Given the description of an element on the screen output the (x, y) to click on. 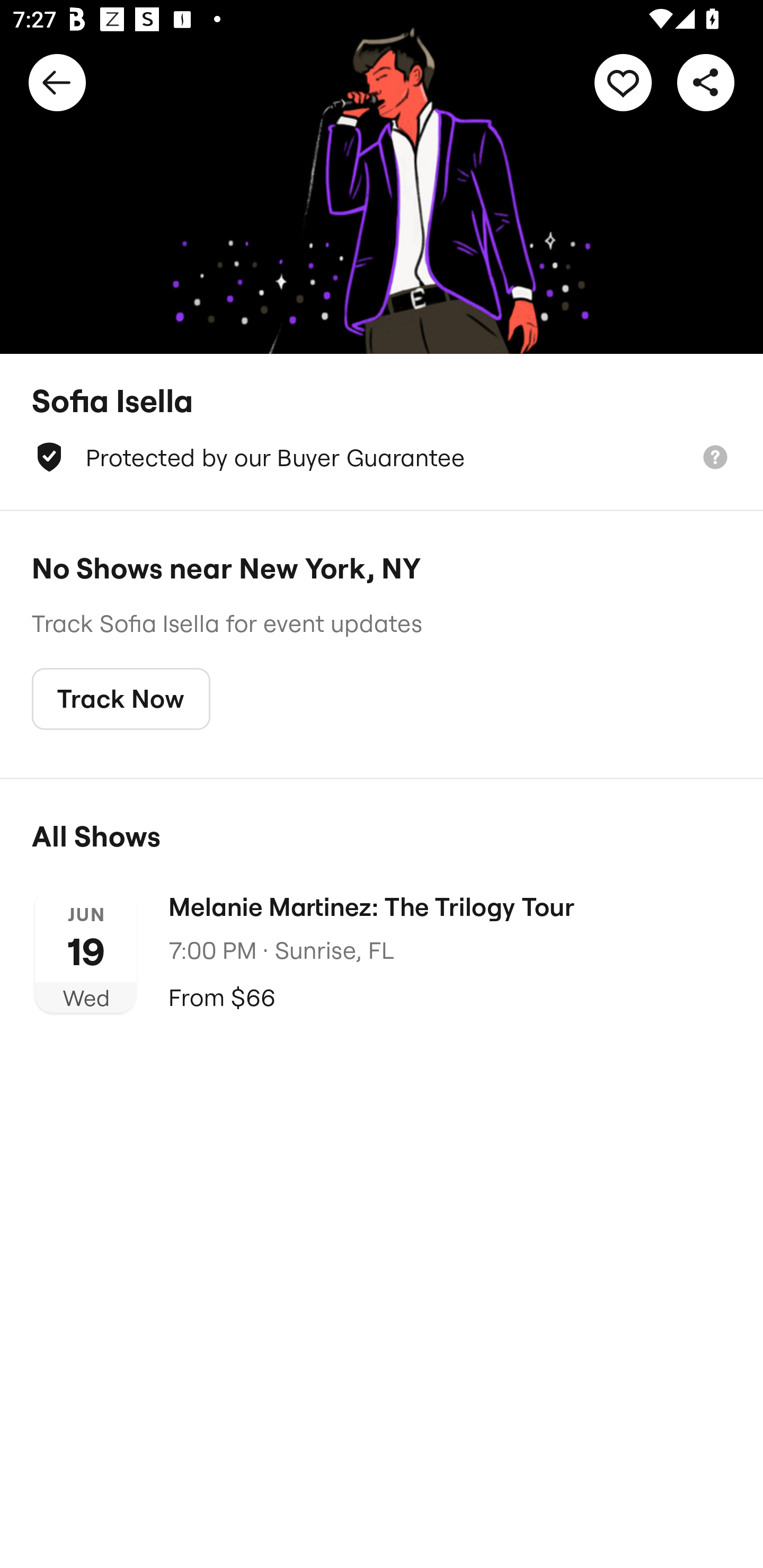
Back (57, 81)
Track this performer (623, 81)
Share this performer (705, 81)
Protected by our Buyer Guarantee Learn more (381, 456)
Track Now (121, 699)
